Given the description of an element on the screen output the (x, y) to click on. 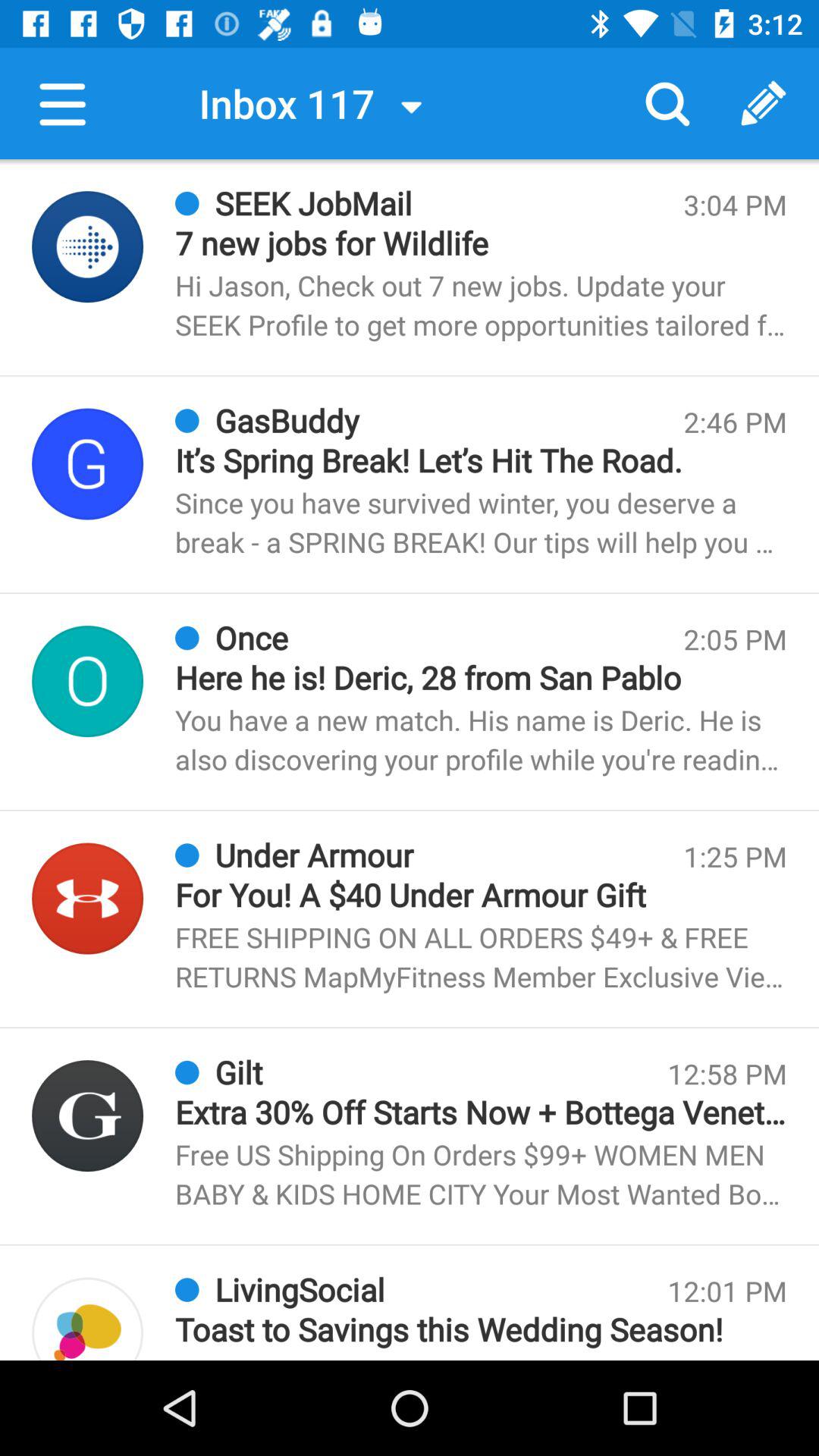
select icon of under armour (87, 899)
select the four different color box which is besides the living social (87, 1318)
